Given the description of an element on the screen output the (x, y) to click on. 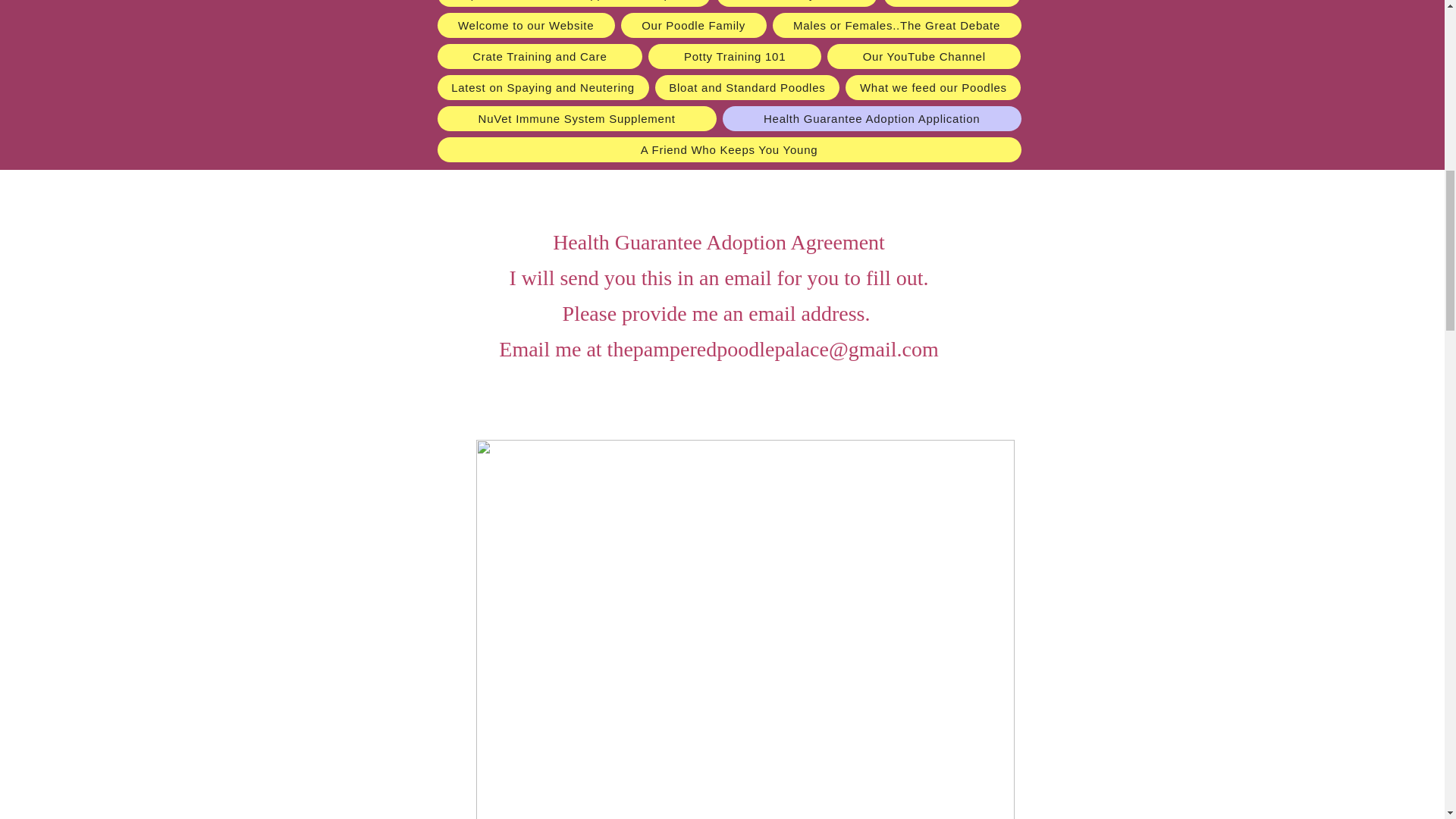
Your First Days Home (796, 3)
Our YouTube Channel (924, 56)
Health Guarantee Adoption Application (872, 118)
NuVet Immune System Supplement (576, 118)
Males or Females..The Great Debate (897, 25)
Latest on Spaying and Neutering (541, 87)
Standard Poodles (952, 3)
A Friend Who Keeps You Young (728, 149)
What we feed our Poodles (932, 87)
Bloat and Standard Poodles (747, 87)
Our Poodle Family (694, 25)
Crate Training and Care (539, 56)
Welcome to our Website (525, 25)
Potty Training 101 (734, 56)
